Given the description of an element on the screen output the (x, y) to click on. 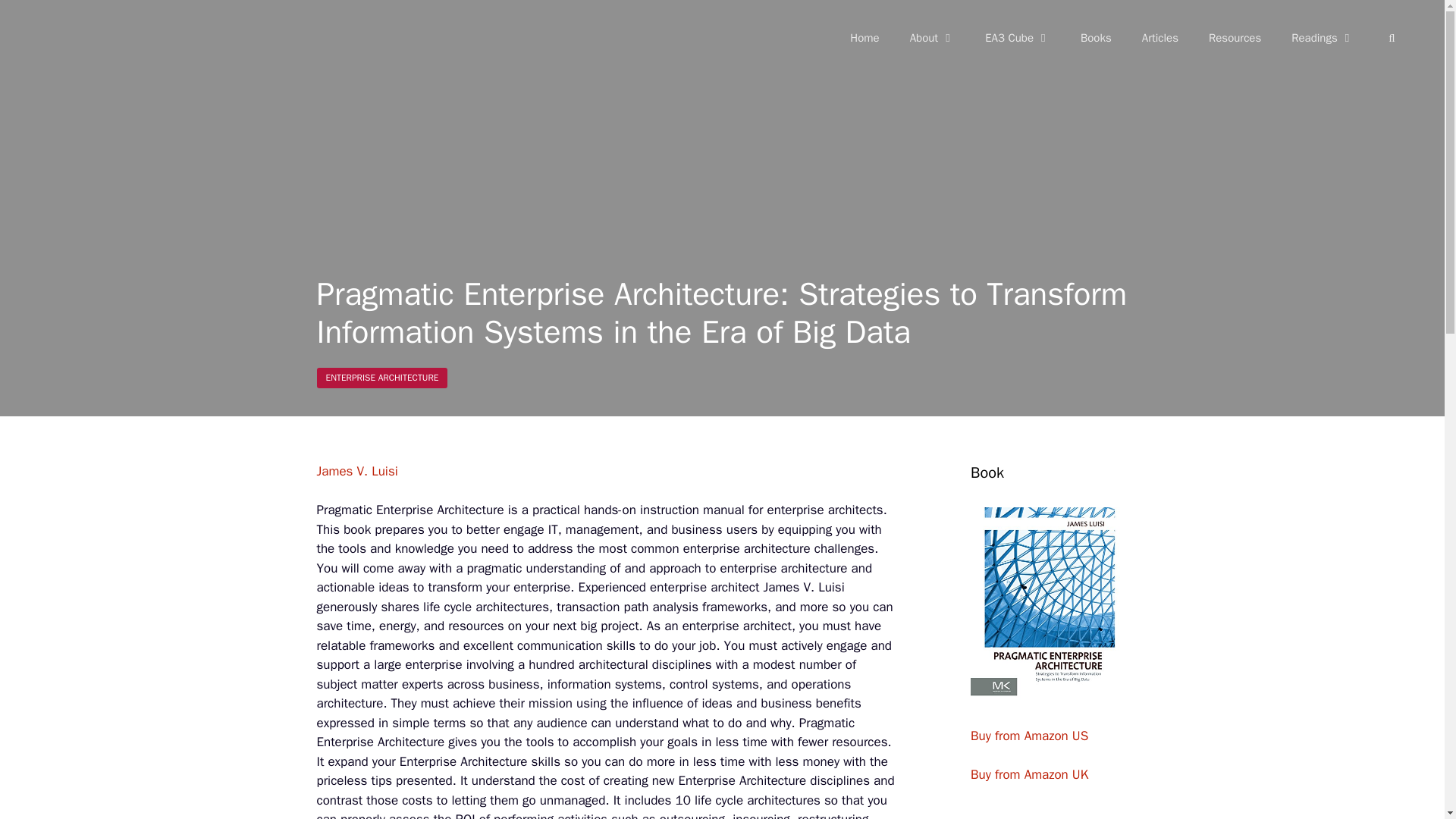
Articles (1159, 37)
Resources (1234, 37)
Books (1095, 37)
About (932, 37)
EA3 Cube (1017, 37)
Home (863, 37)
Readings (1323, 37)
